Given the description of an element on the screen output the (x, y) to click on. 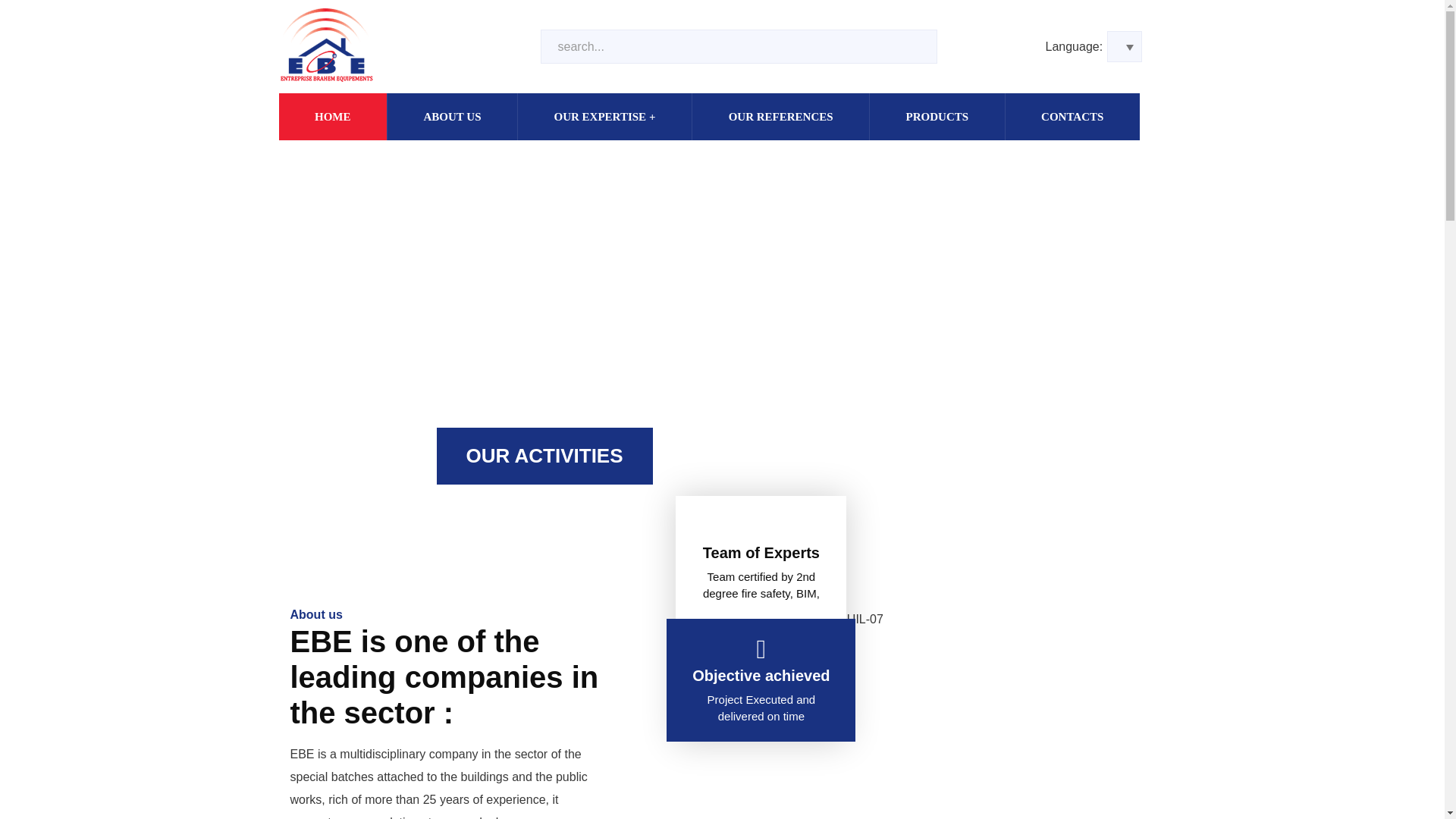
OUR REFERENCES (781, 116)
PRODUCTS (937, 116)
CONTACTS (1073, 116)
OUR ACTIVITIES (544, 455)
ABOUT US (452, 116)
ACCEUIL-07 (841, 619)
Ent brahem (325, 45)
HOME (333, 116)
OUR EXPERTISE (605, 116)
